Given the description of an element on the screen output the (x, y) to click on. 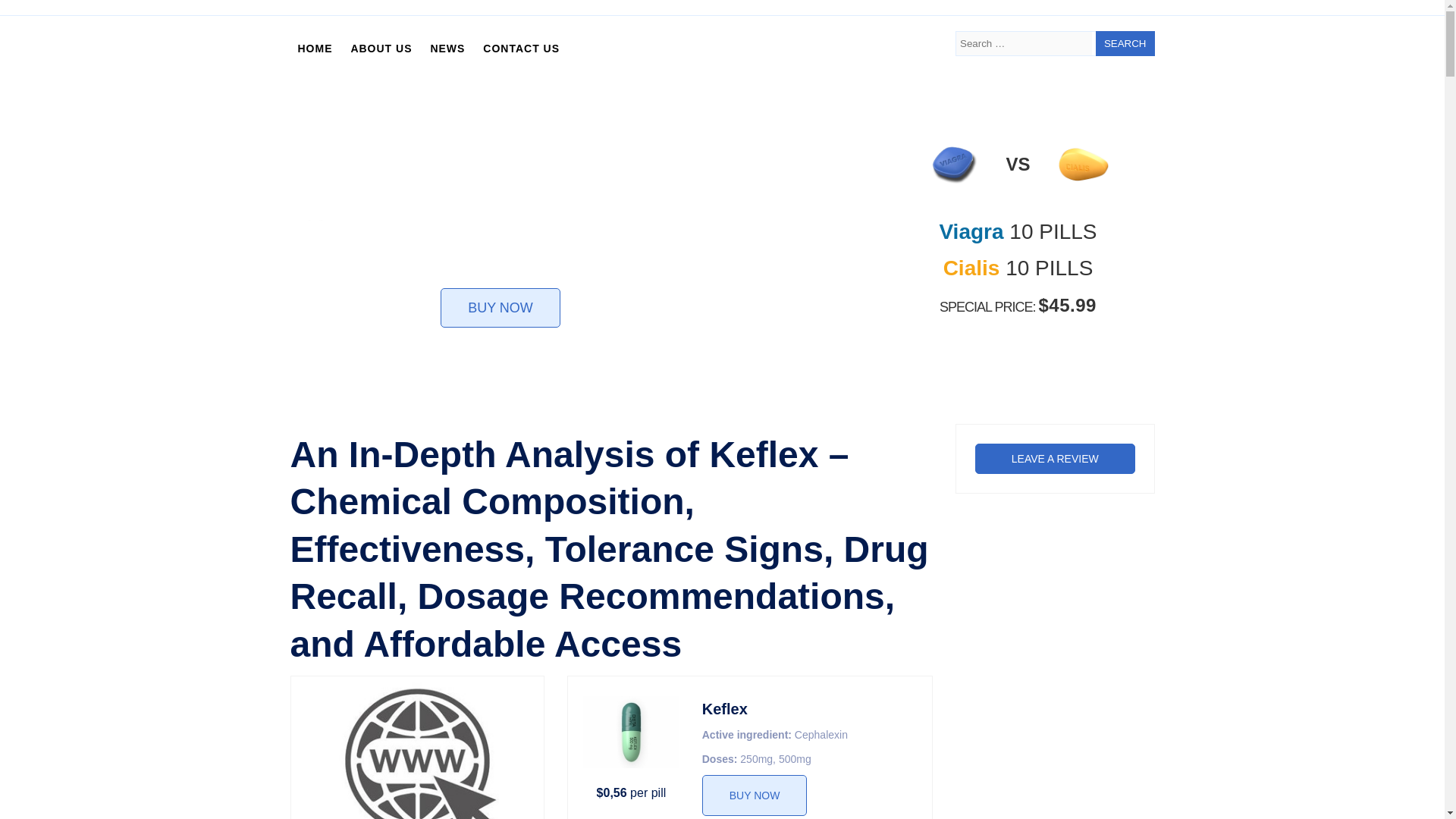
CONTACT US (521, 48)
LEAVE A REVIEW (1055, 458)
ABOUT US (380, 48)
SEARCH (1125, 43)
NEWS (446, 48)
BUY NOW (754, 794)
Buy Now (754, 794)
Leave a Review (1055, 458)
HOME (314, 48)
